Given the description of an element on the screen output the (x, y) to click on. 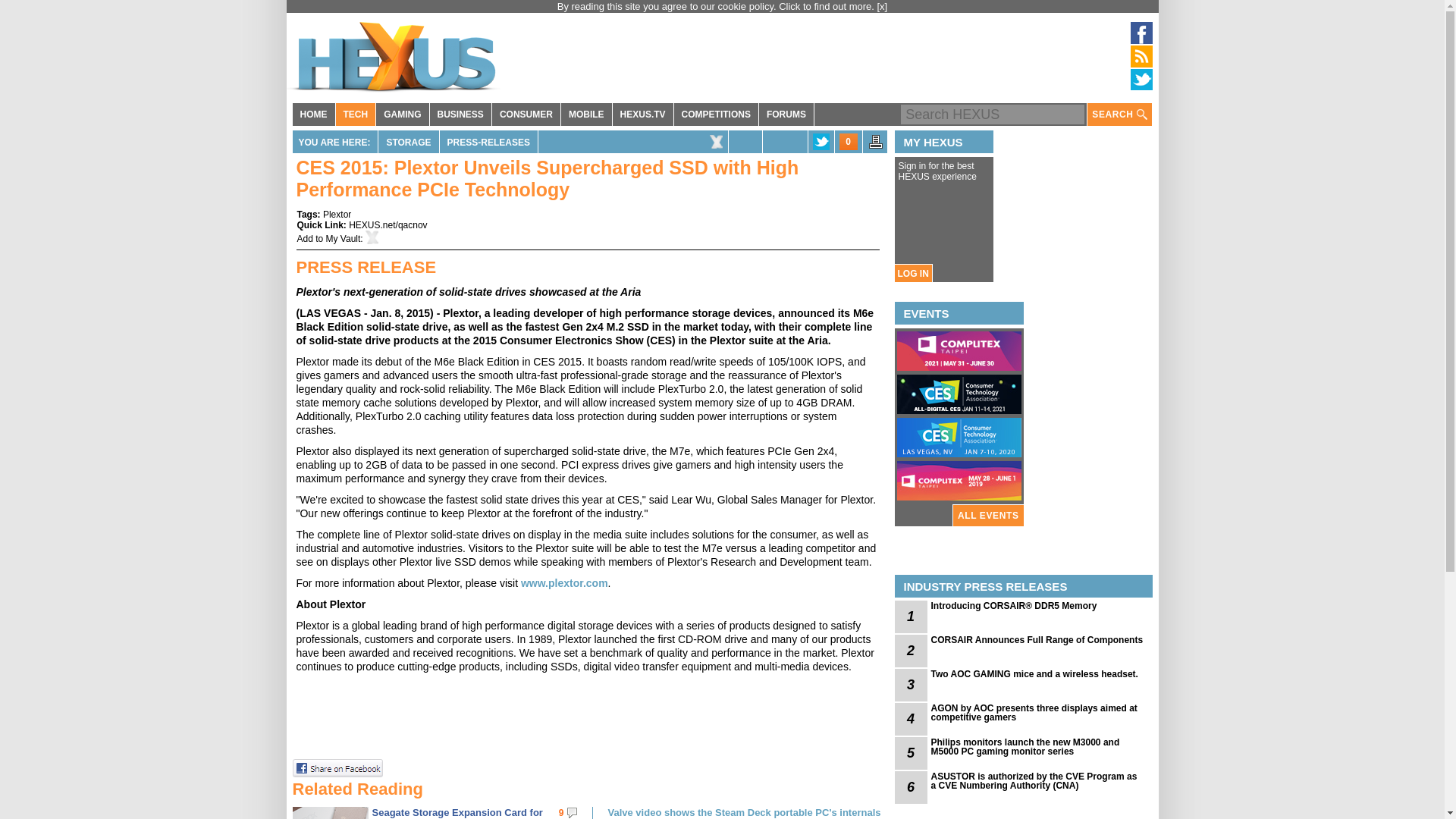
SEARCH (1118, 114)
BUSINESS (460, 114)
STORAGE (408, 141)
FORUMS (785, 114)
COMPETITIONS (716, 114)
Discuss in the HEXUS Forums (847, 141)
Printer Friendly Layout (875, 146)
TECH (354, 114)
HEXUS.TV (642, 114)
Plextor (336, 214)
GAMING (401, 114)
0 (847, 141)
My Vault (343, 238)
www.plextor.com (564, 582)
